Given the description of an element on the screen output the (x, y) to click on. 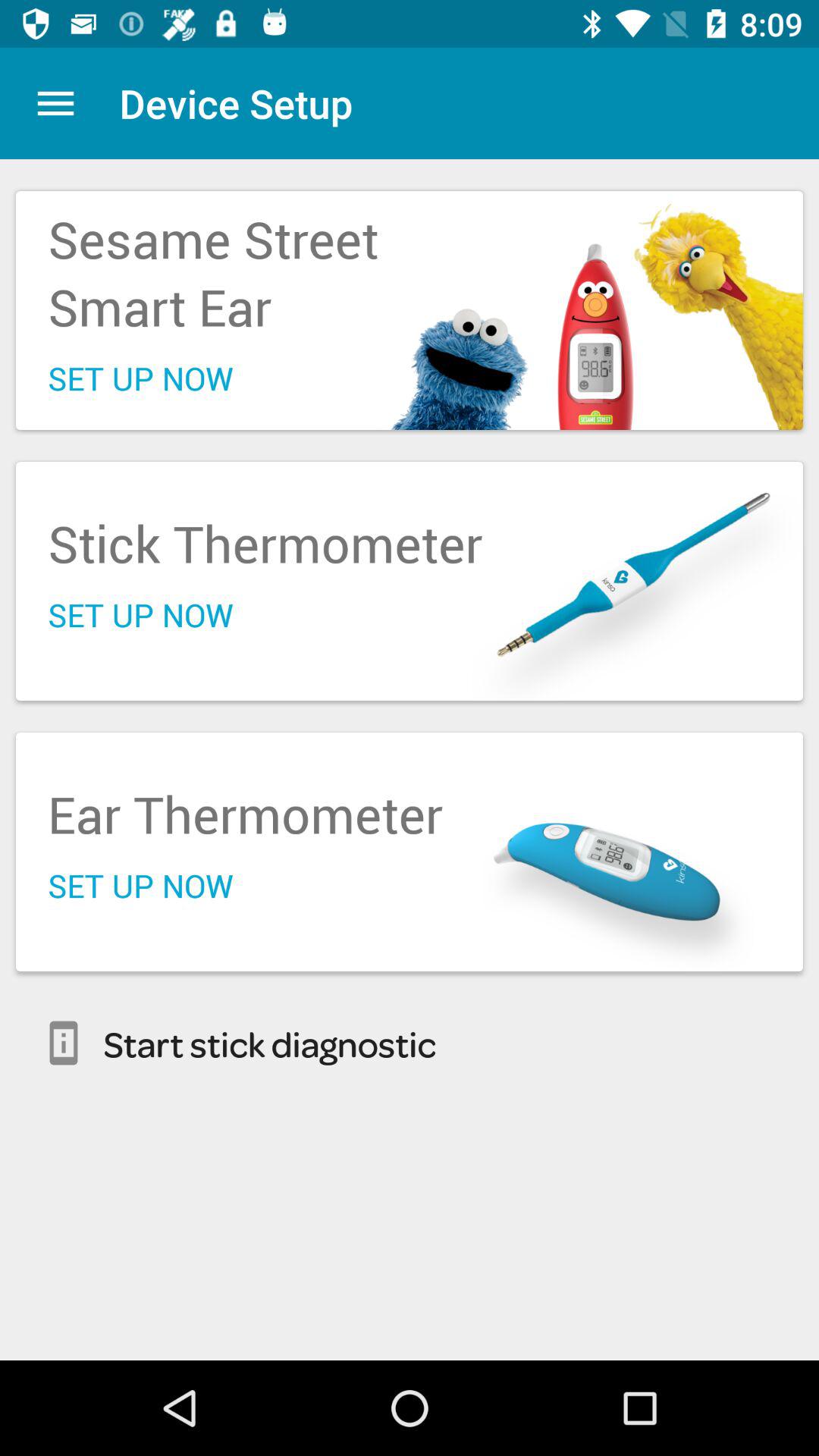
click the icon above the sesame street (55, 103)
